Given the description of an element on the screen output the (x, y) to click on. 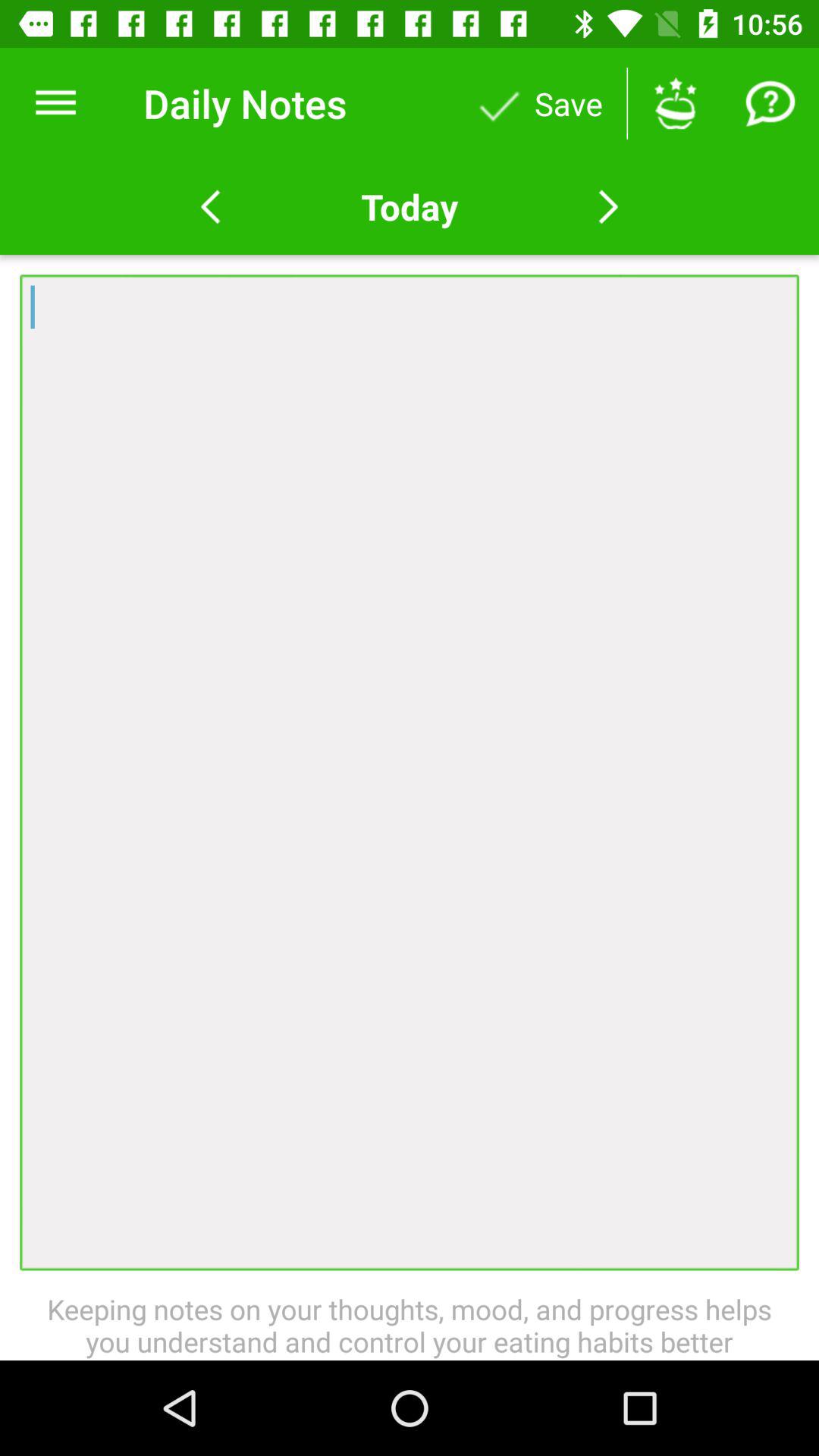
begin typing (409, 772)
